Given the description of an element on the screen output the (x, y) to click on. 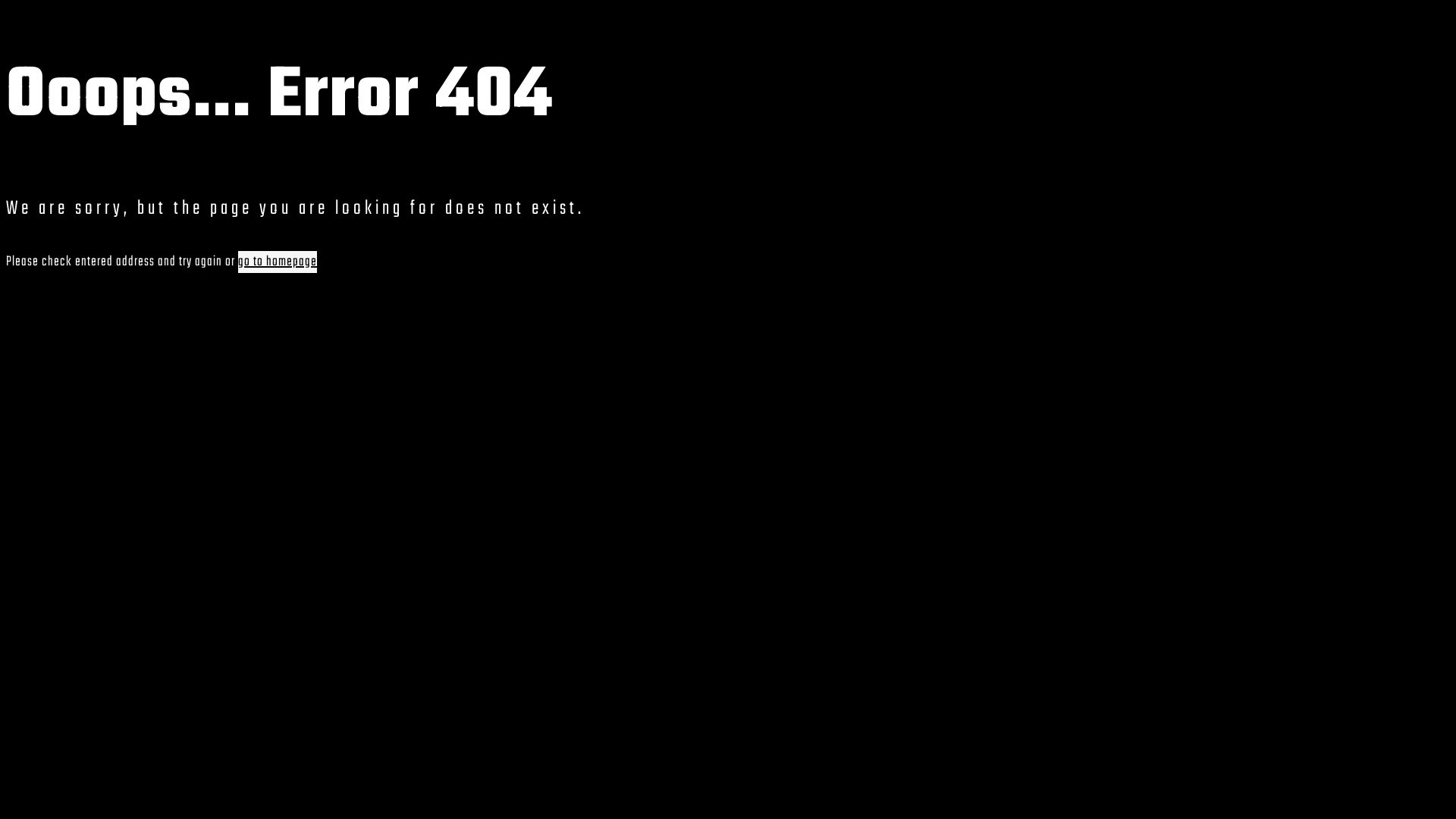
go to homepage Element type: text (277, 262)
